Given the description of an element on the screen output the (x, y) to click on. 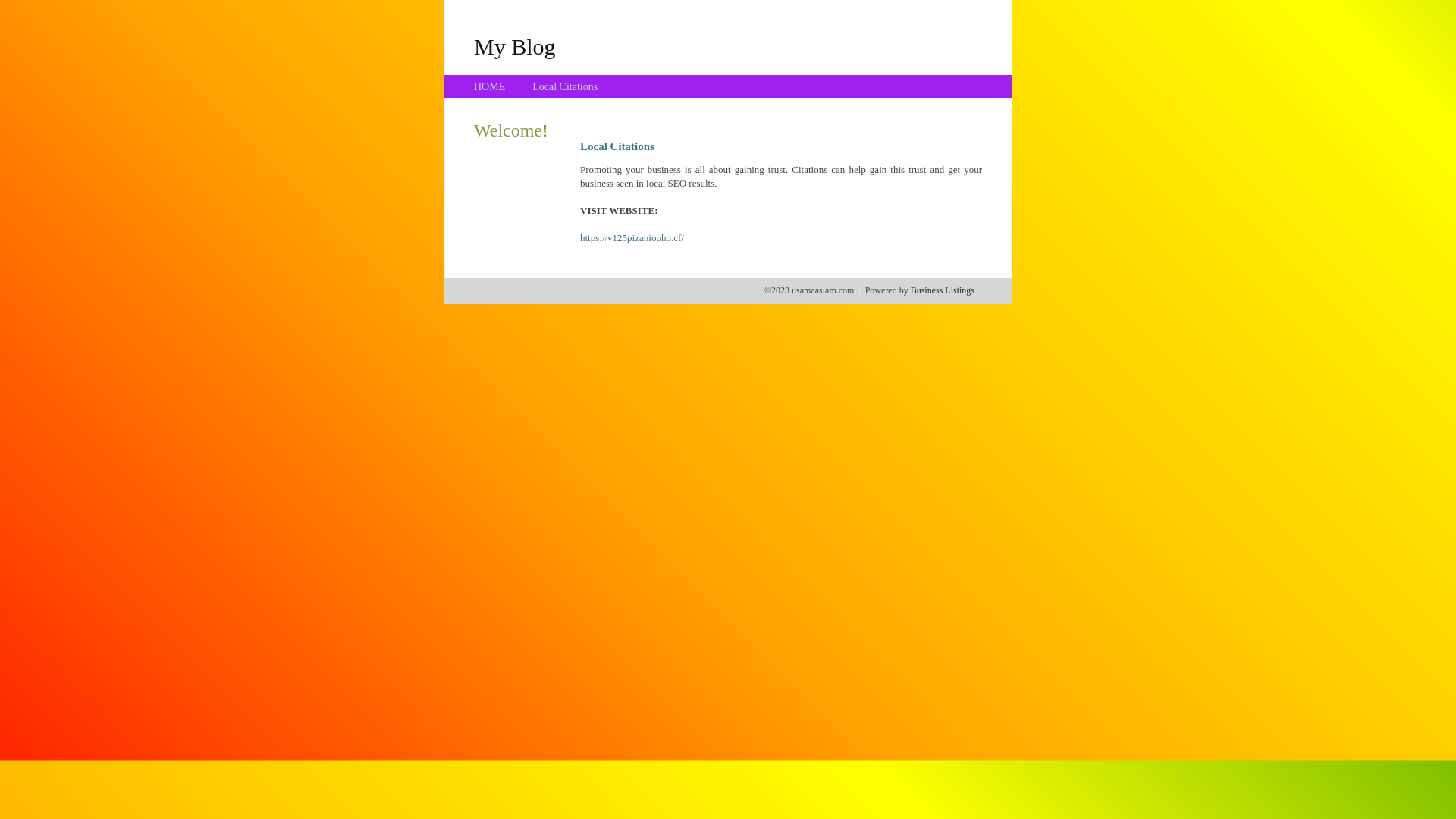
Business Listings Element type: text (942, 290)
My Blog Element type: text (514, 46)
Local Citations Element type: text (564, 86)
HOME Element type: text (489, 86)
https://v125pizaniooho.cf/ Element type: text (632, 237)
